Given the description of an element on the screen output the (x, y) to click on. 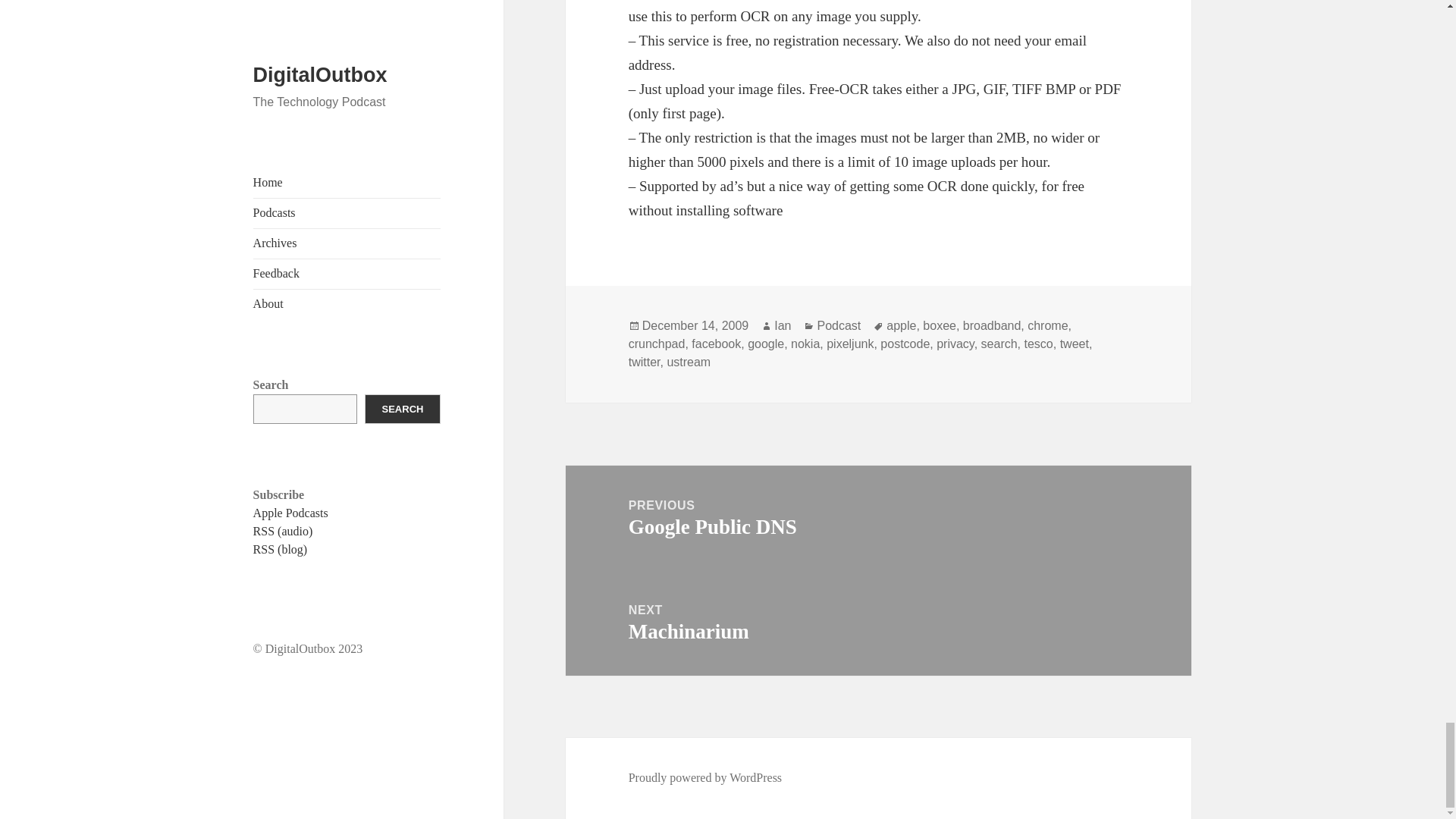
Podcast (838, 325)
boxee (939, 325)
apple (900, 325)
Ian (782, 325)
December 14, 2009 (695, 325)
